Given the description of an element on the screen output the (x, y) to click on. 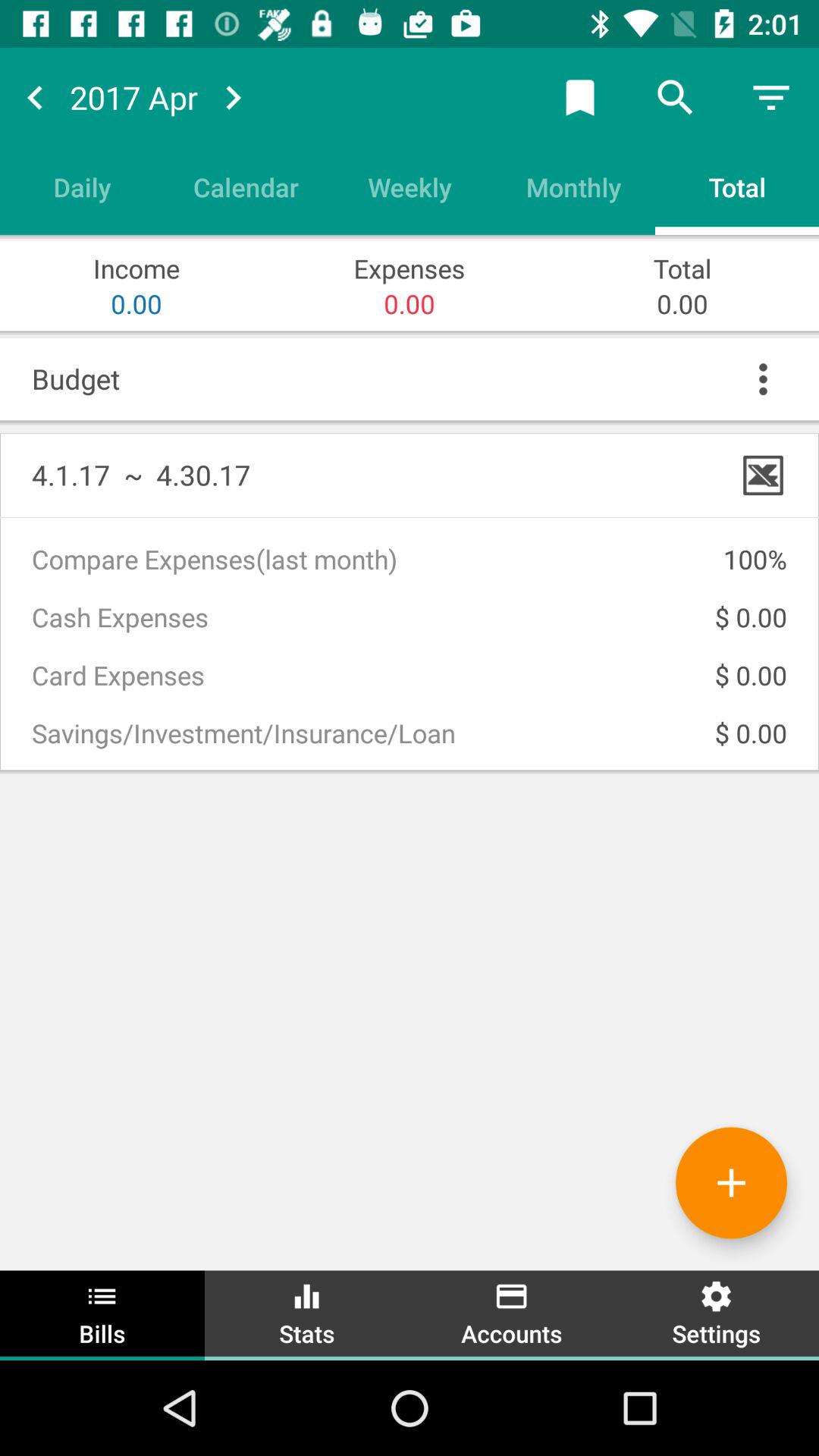
bookmark page (579, 97)
